Given the description of an element on the screen output the (x, y) to click on. 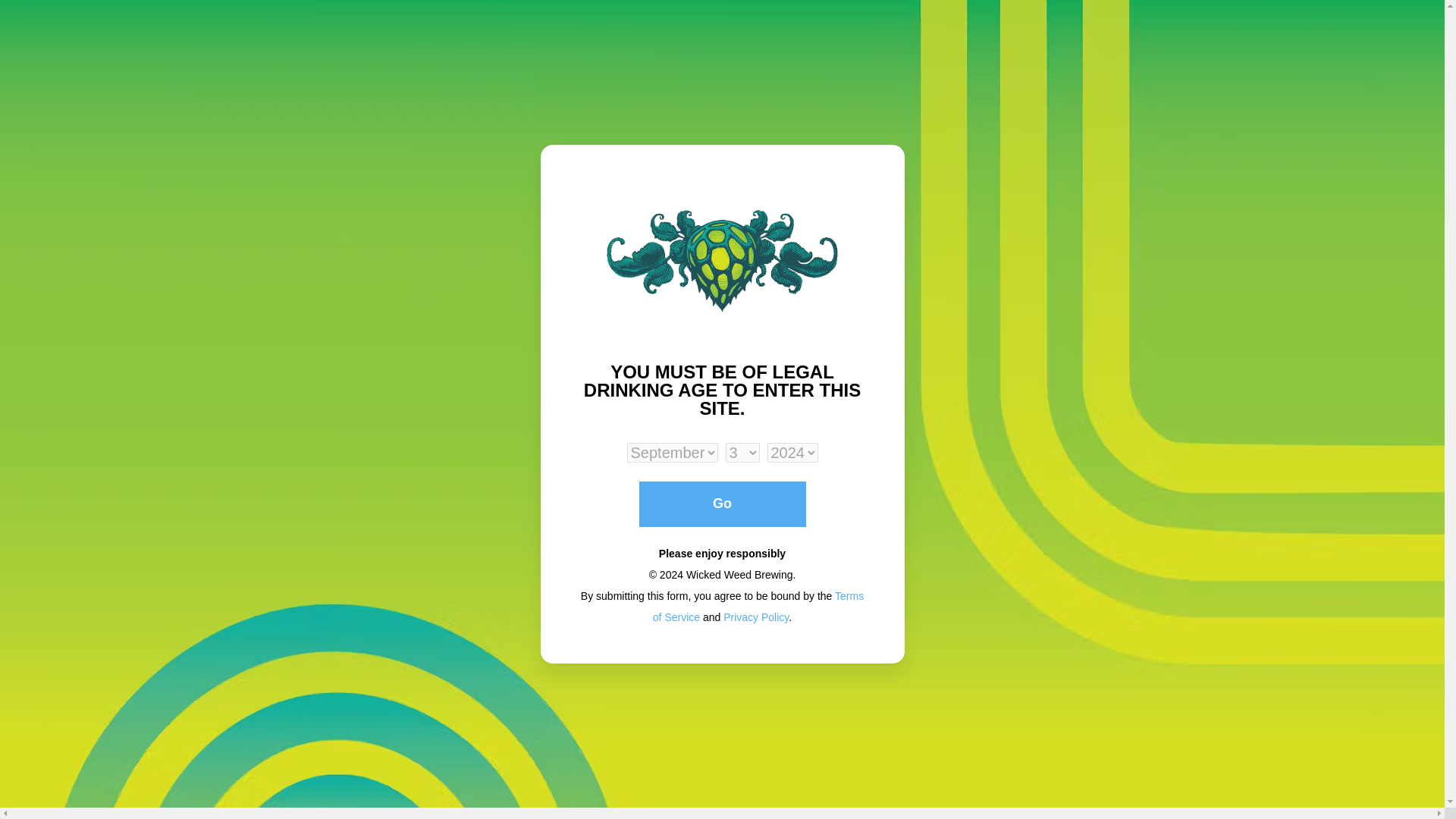
Terms of Service (757, 51)
Facebook IconThe Facebook service icon (84, 238)
Instagram IconThe Instagram service icon (63, 238)
Privacy Policy (756, 61)
Back to all events (183, 124)
